Given the description of an element on the screen output the (x, y) to click on. 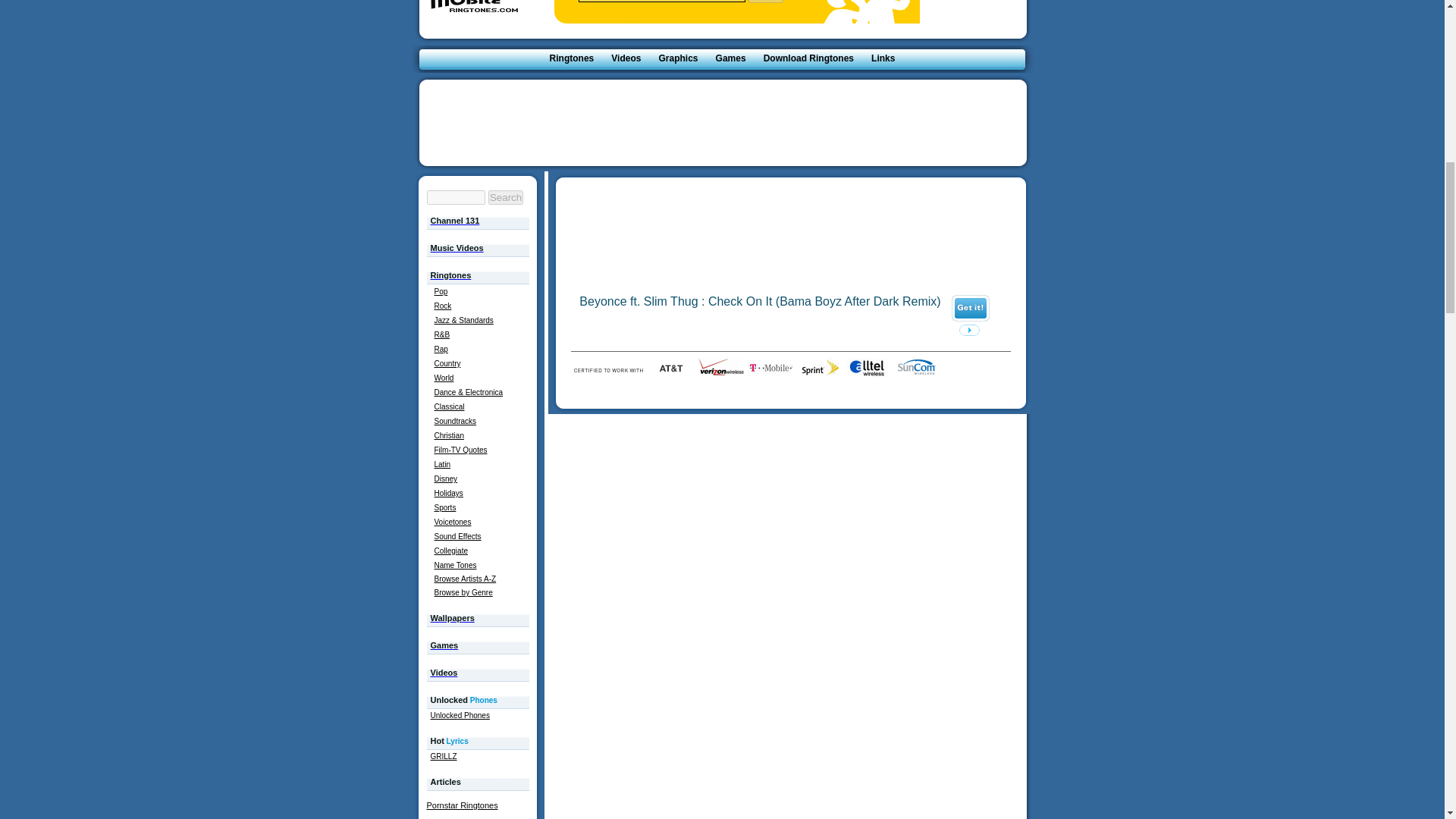
Rock (442, 306)
Download Ringtones (808, 58)
Film-TV Quotes (459, 449)
Graphics (677, 58)
Search (765, 1)
Holidays (448, 492)
Sports (444, 507)
Collegiate (450, 551)
Sound Effects (456, 536)
Search (504, 197)
Channel 131 (455, 219)
New ringtones, music tones and polyphonic ringtones (473, 10)
Wallpapers (452, 616)
Search (765, 1)
Disney (445, 479)
